Given the description of an element on the screen output the (x, y) to click on. 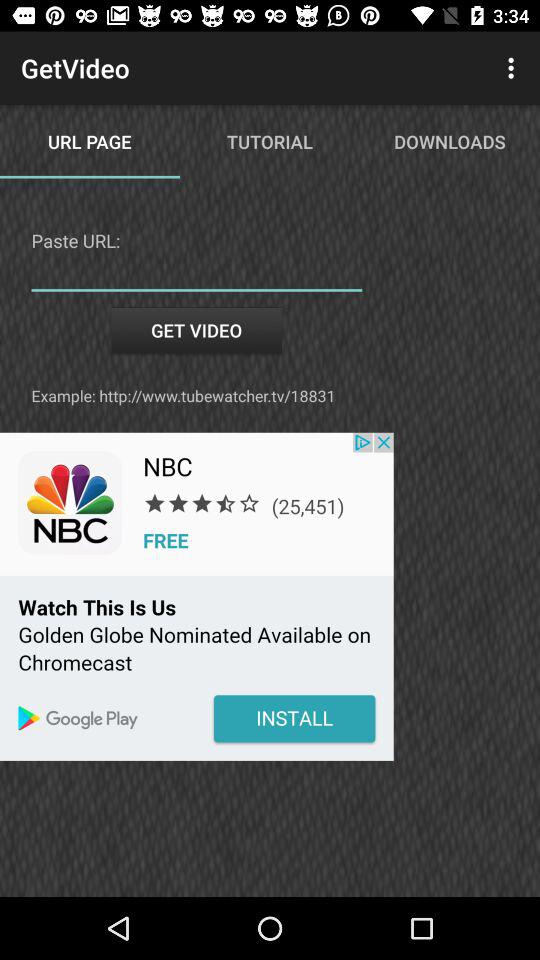
click for nbc free app (196, 596)
